Given the description of an element on the screen output the (x, y) to click on. 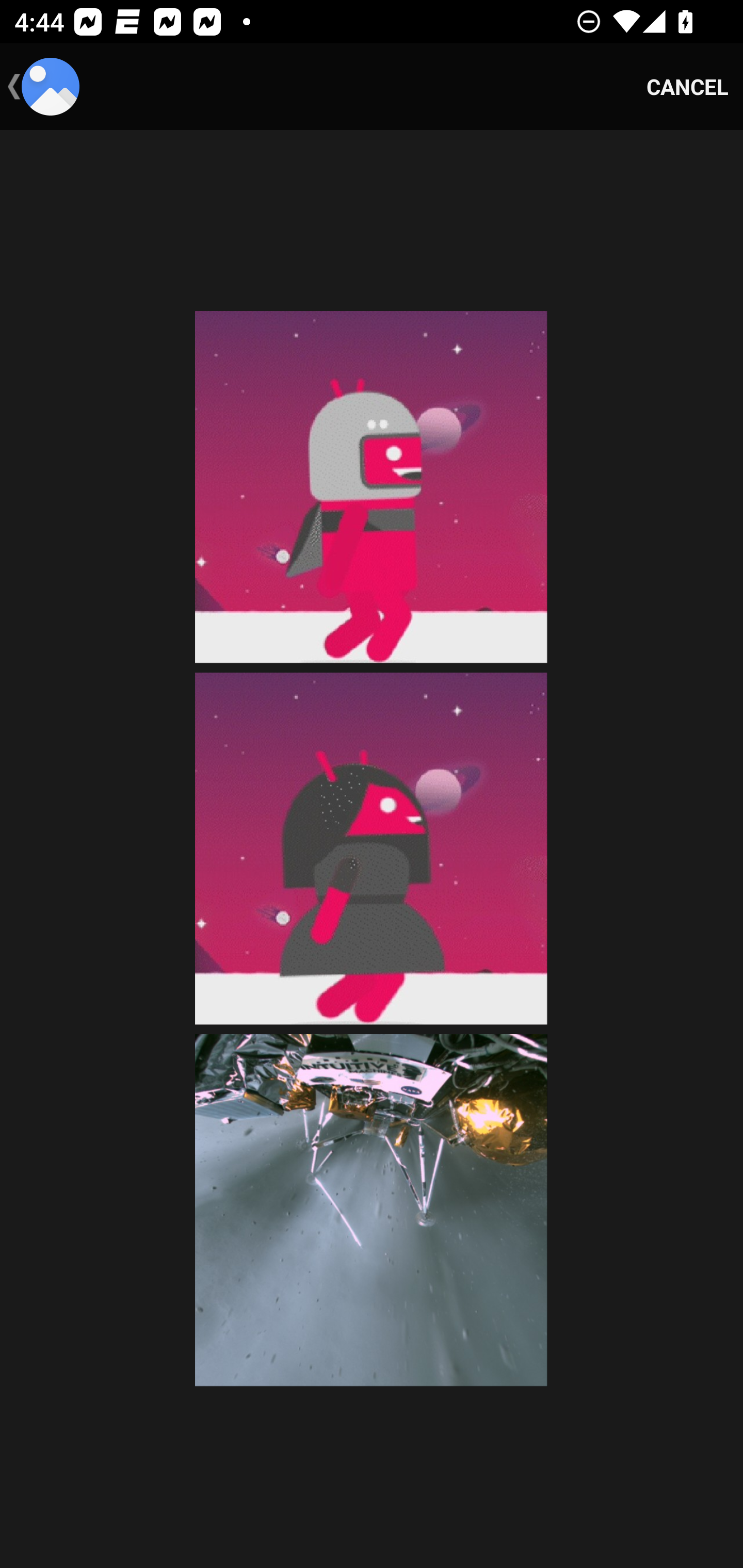
Select photo, Navigate up (43, 86)
CANCEL (687, 86)
